Given the description of an element on the screen output the (x, y) to click on. 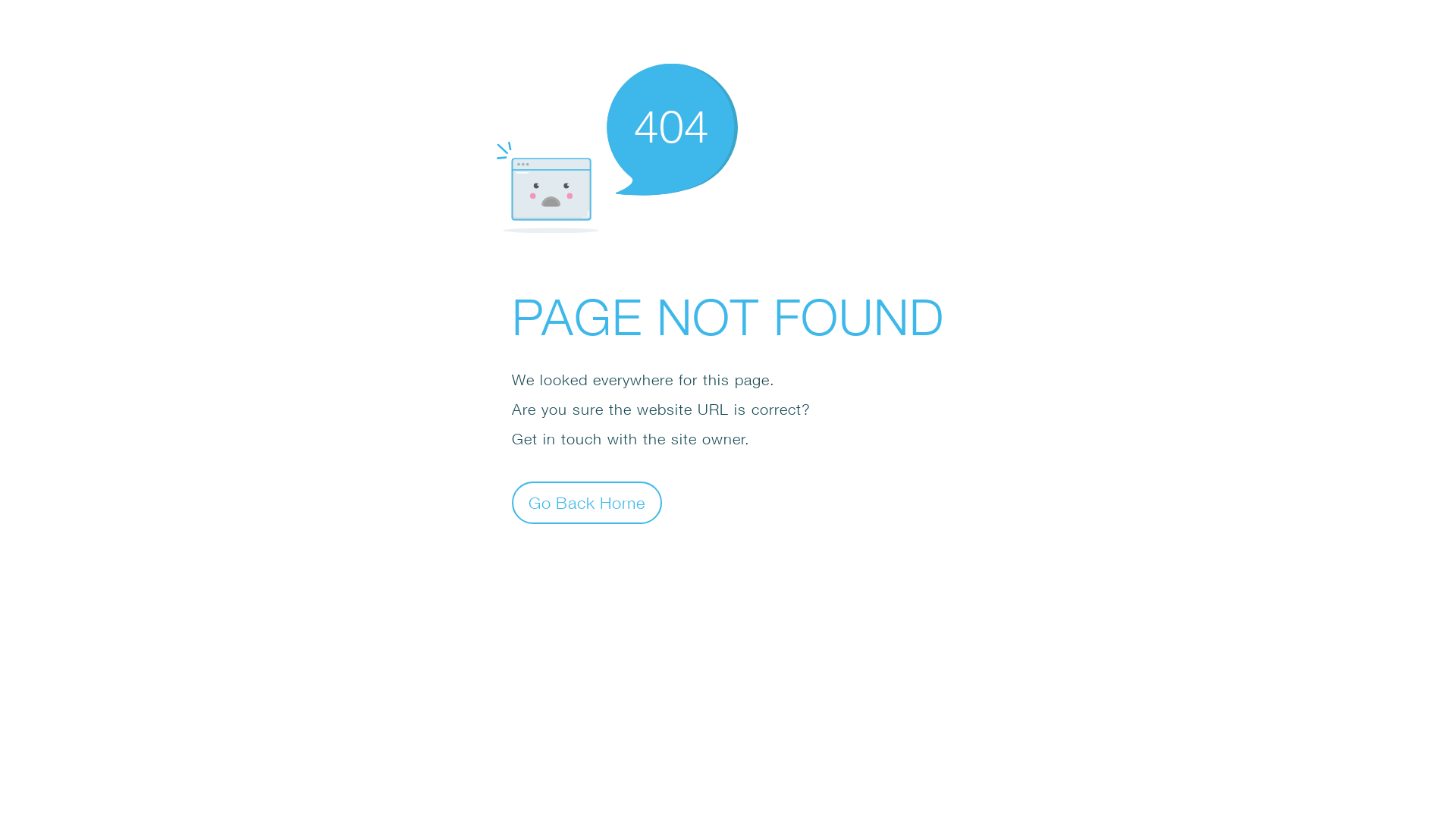
Go Back Home Element type: text (586, 502)
